Given the description of an element on the screen output the (x, y) to click on. 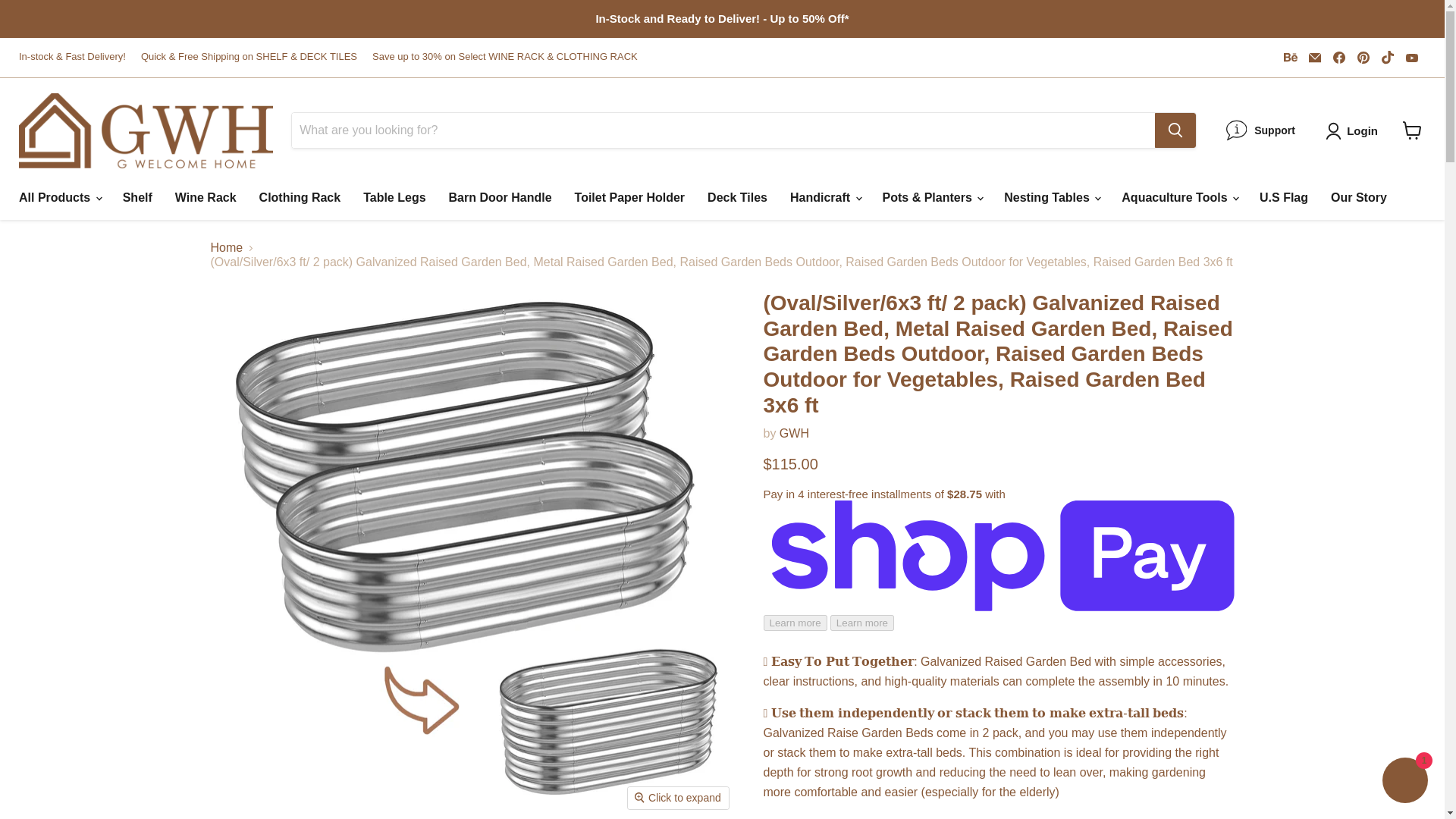
Login (1362, 130)
YouTube (1411, 56)
View cart (1411, 130)
Find us on TikTok (1387, 56)
Pinterest (1363, 56)
GWH (793, 432)
Find us on Facebook (1338, 56)
Find us on Behance (1290, 56)
Find us on YouTube (1411, 56)
Email GWH (1314, 56)
Email (1314, 56)
Facebook (1338, 56)
Find us on Pinterest (1363, 56)
Behance (1290, 56)
TikTok (1387, 56)
